Given the description of an element on the screen output the (x, y) to click on. 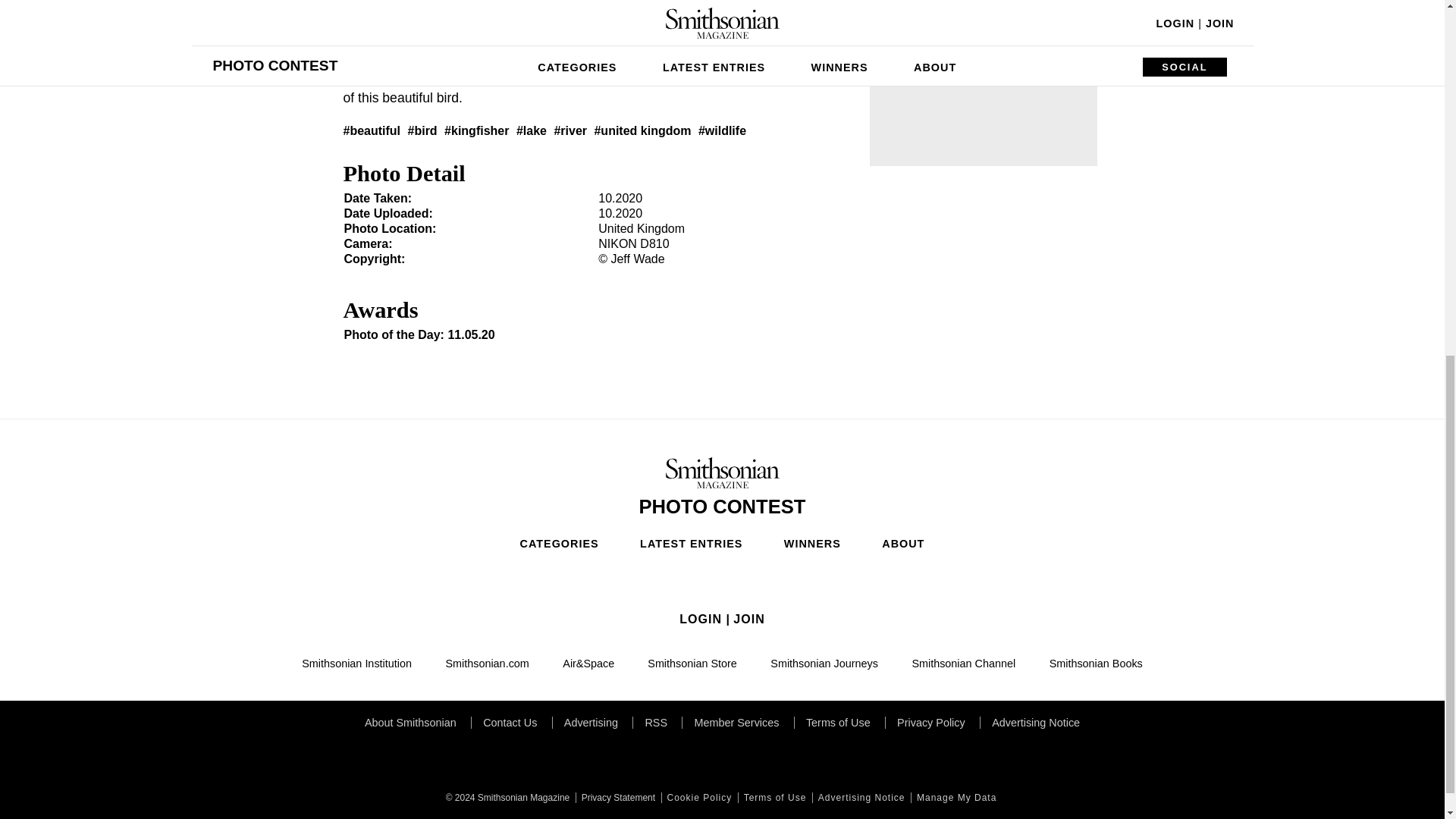
Cookie Policy (698, 797)
Manage My Data (954, 797)
Terms of Use (773, 797)
Advertising Notice (859, 797)
Privacy Statement (616, 797)
